Given the description of an element on the screen output the (x, y) to click on. 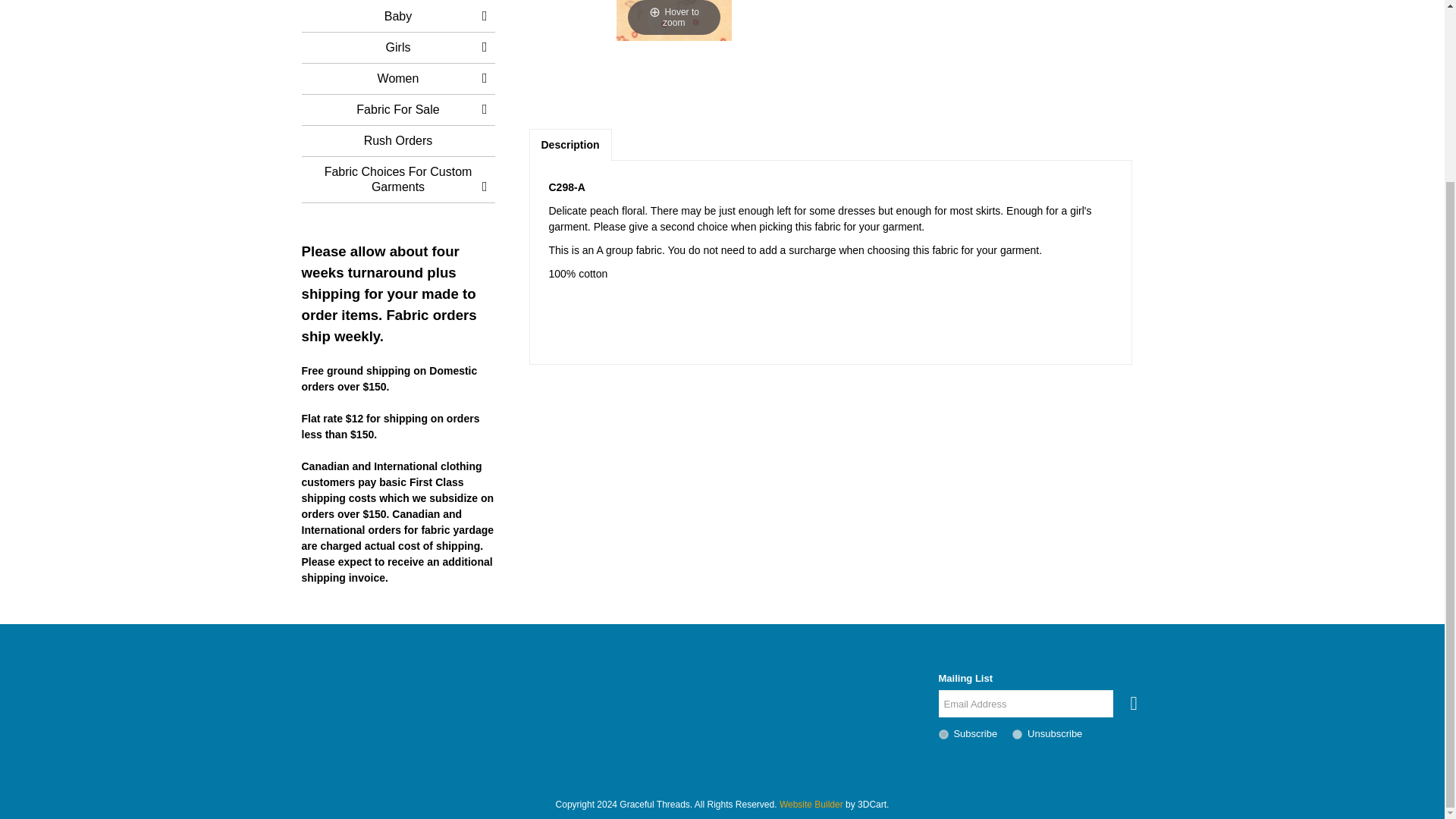
Fabric For Sale (398, 110)
Women (398, 78)
Baby (398, 16)
Girls (398, 47)
1 (944, 734)
0 (1016, 734)
